Given the description of an element on the screen output the (x, y) to click on. 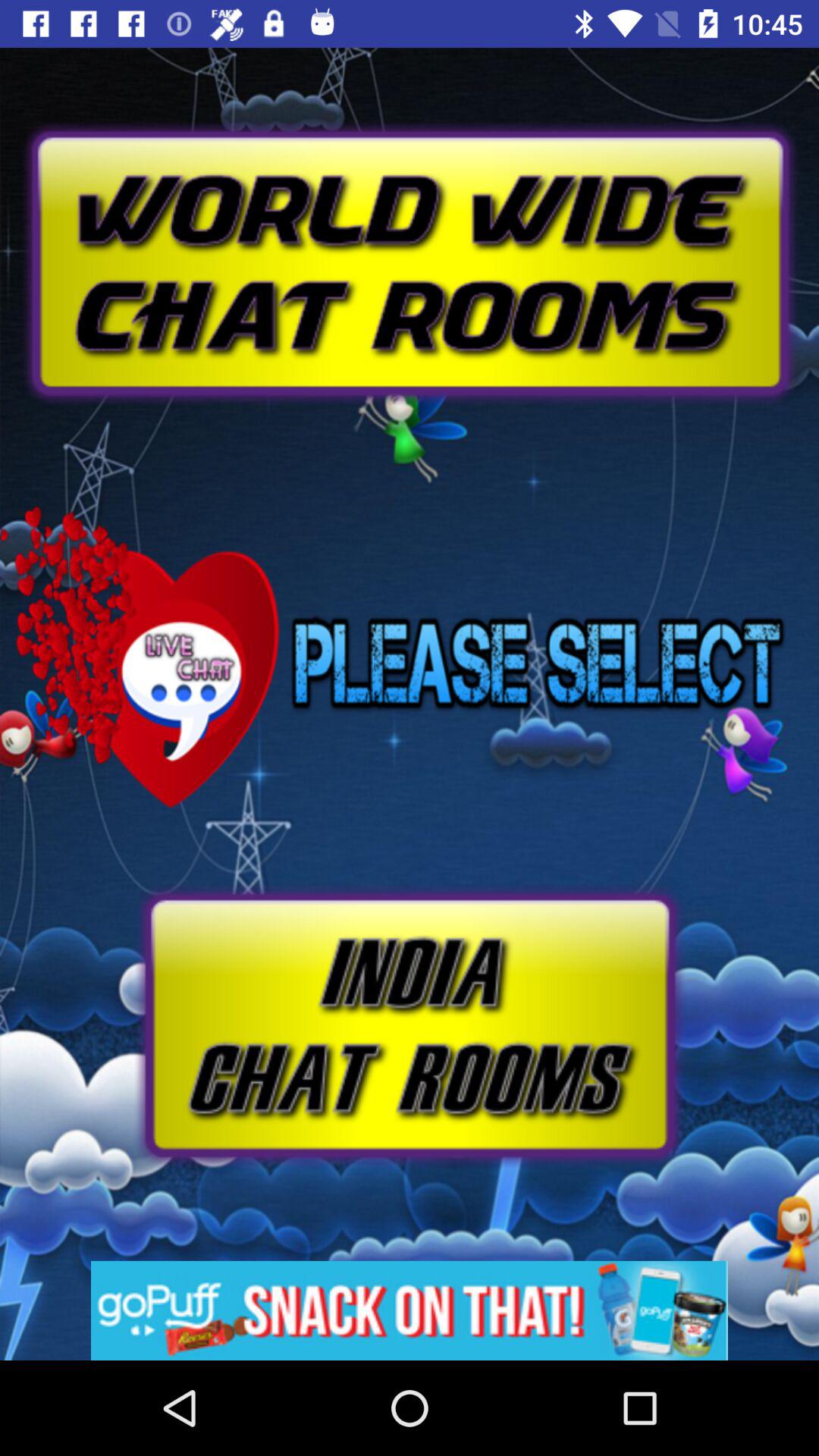
advertisement page (409, 227)
